Given the description of an element on the screen output the (x, y) to click on. 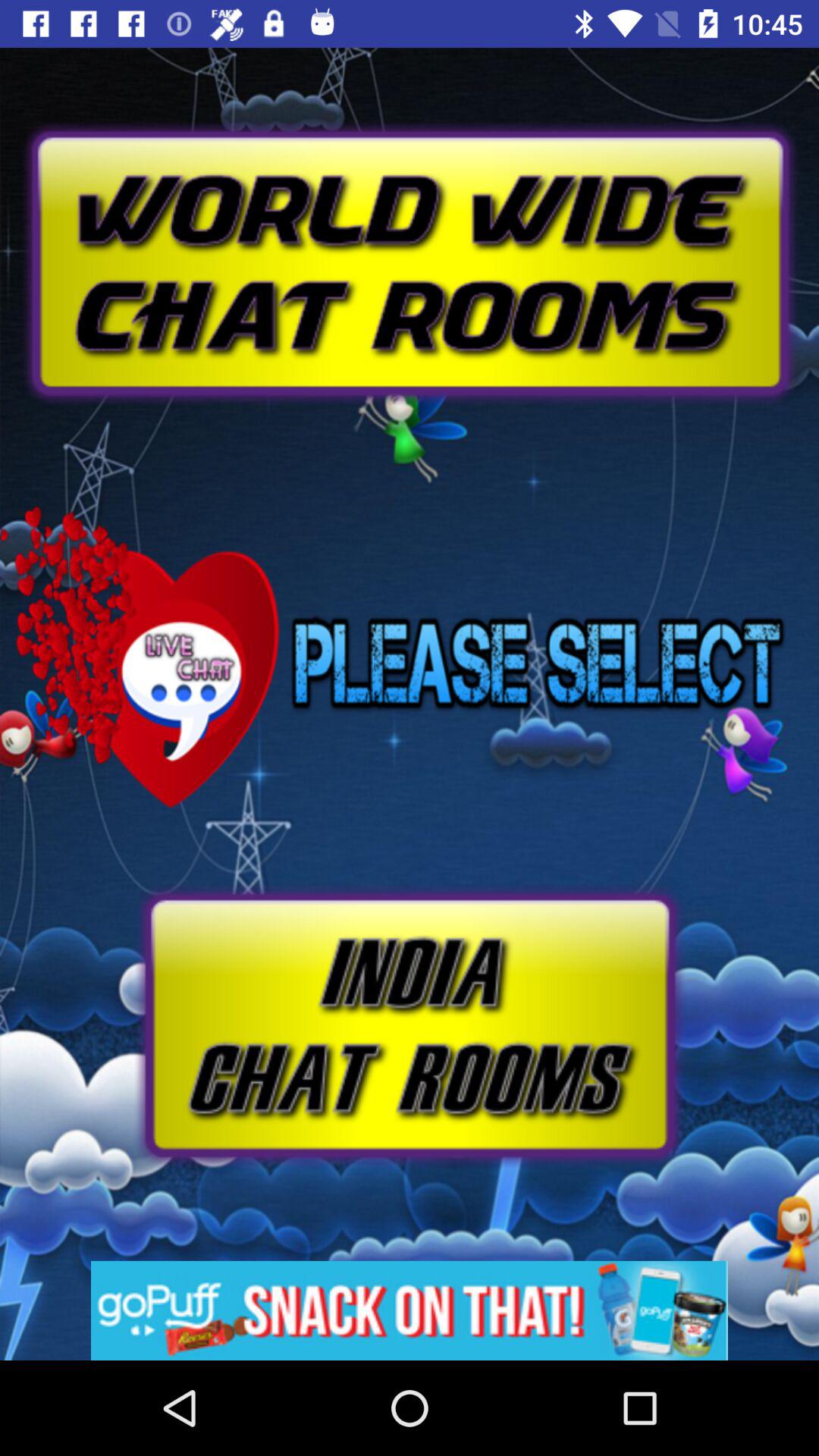
advertisement page (409, 227)
